Given the description of an element on the screen output the (x, y) to click on. 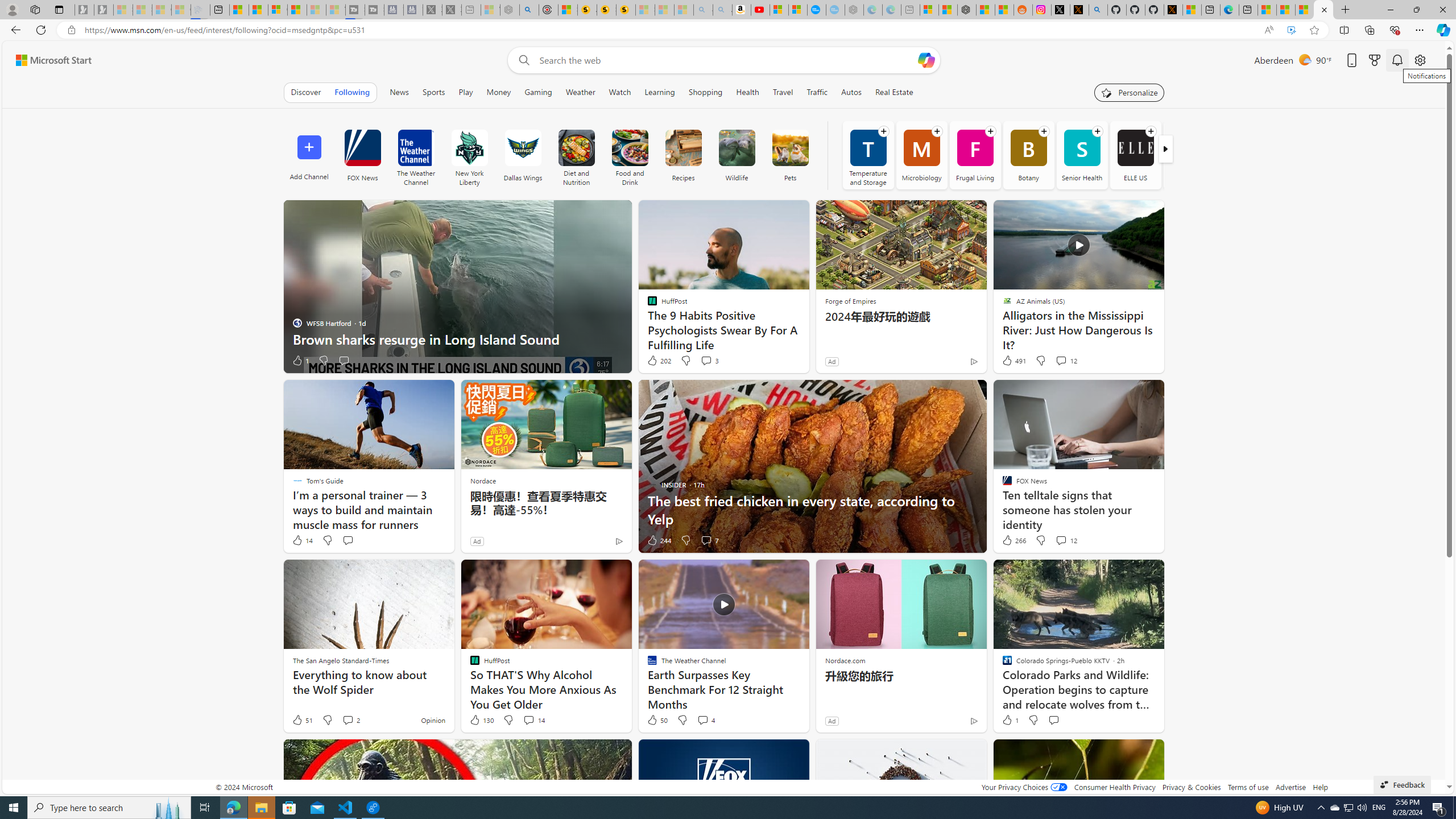
Pets (789, 147)
Autos (850, 92)
51 Like (301, 719)
View comments 4 Comment (705, 719)
